Given the description of an element on the screen output the (x, y) to click on. 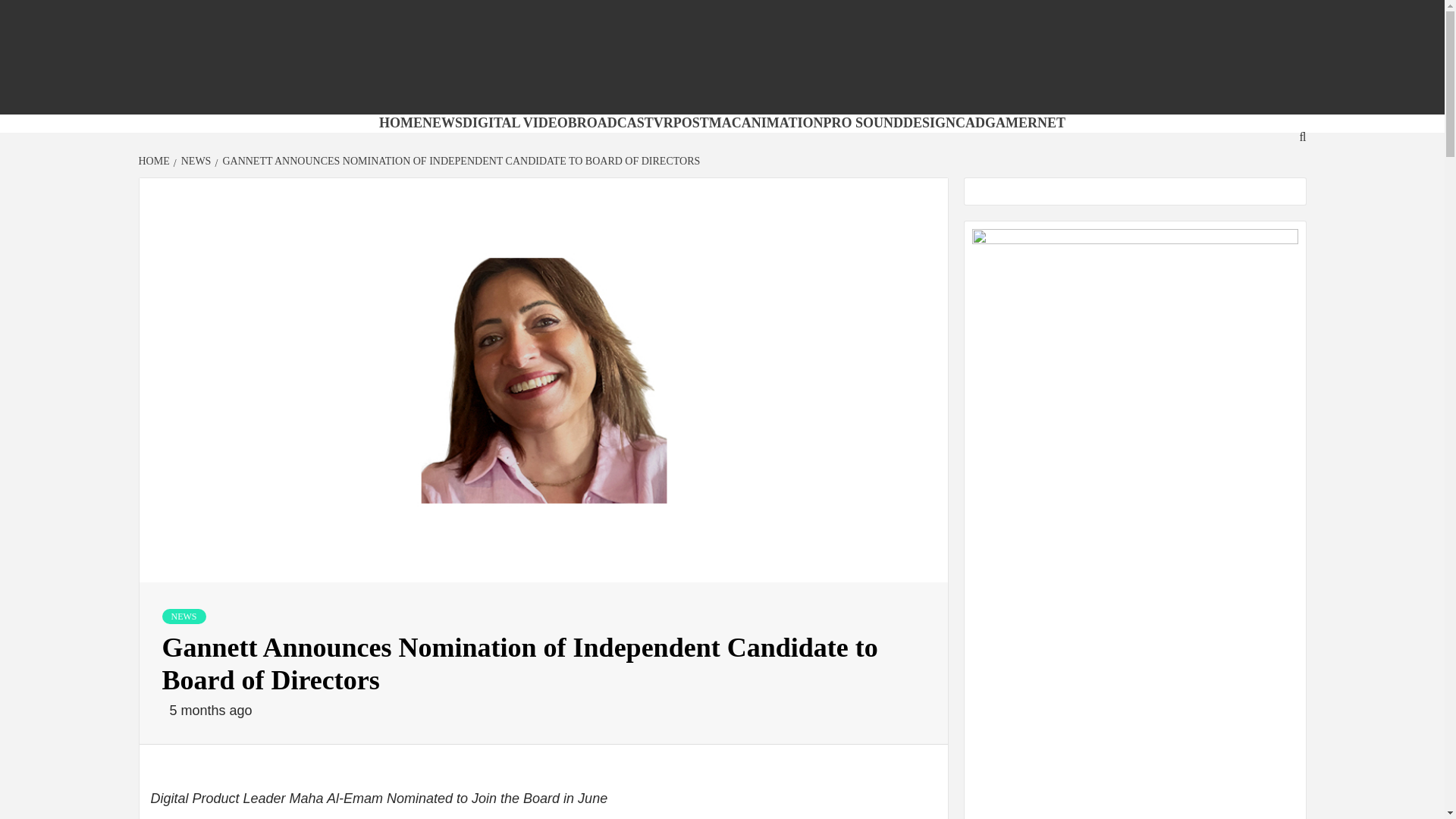
DIGITAL VIDEO (515, 122)
VR (662, 122)
CAD (970, 122)
NEWS (194, 161)
HOME (155, 161)
HOME (400, 122)
POST (690, 122)
GAMERNET (1025, 122)
PRO SOUND (864, 122)
